Given the description of an element on the screen output the (x, y) to click on. 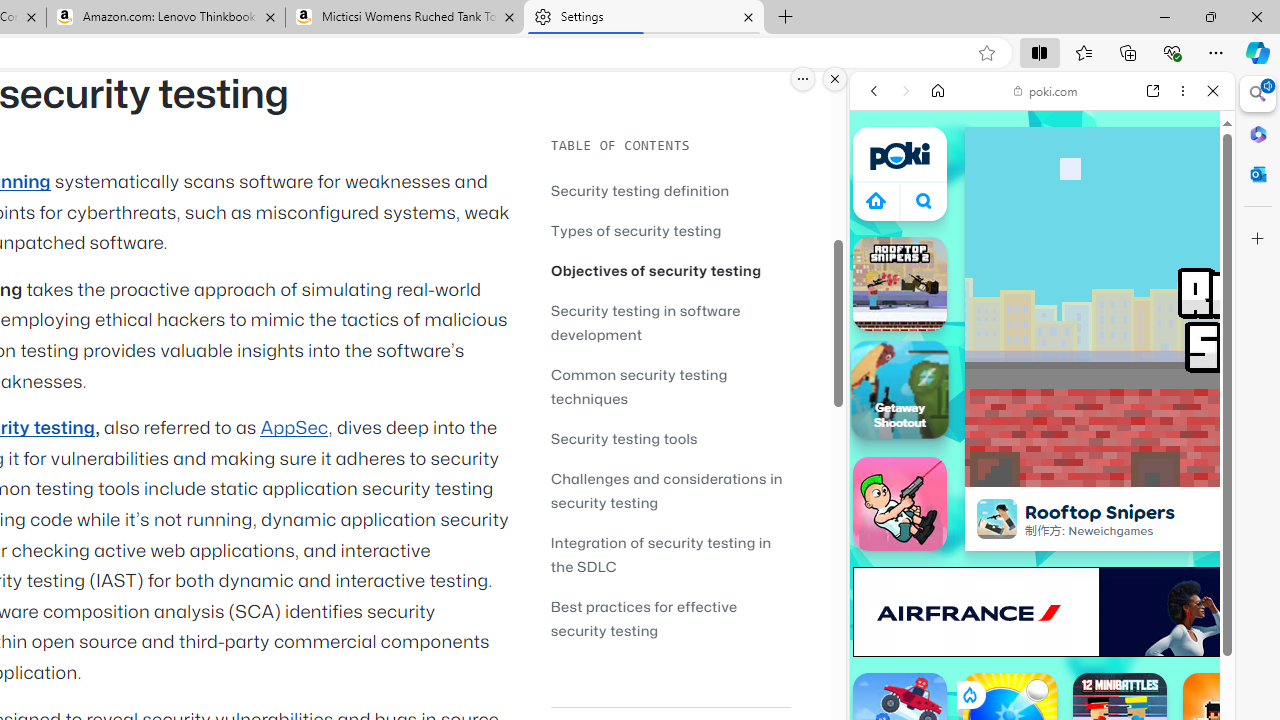
Show More Two Player Games (1164, 570)
Security testing definition (670, 190)
Integration of security testing in the SDLC (670, 553)
Sports Games (1042, 665)
Class: rCs5cyEiqiTpYvt_VBCR (968, 695)
Best practices for effective security testing (644, 618)
Types of security testing (635, 230)
